Given the description of an element on the screen output the (x, y) to click on. 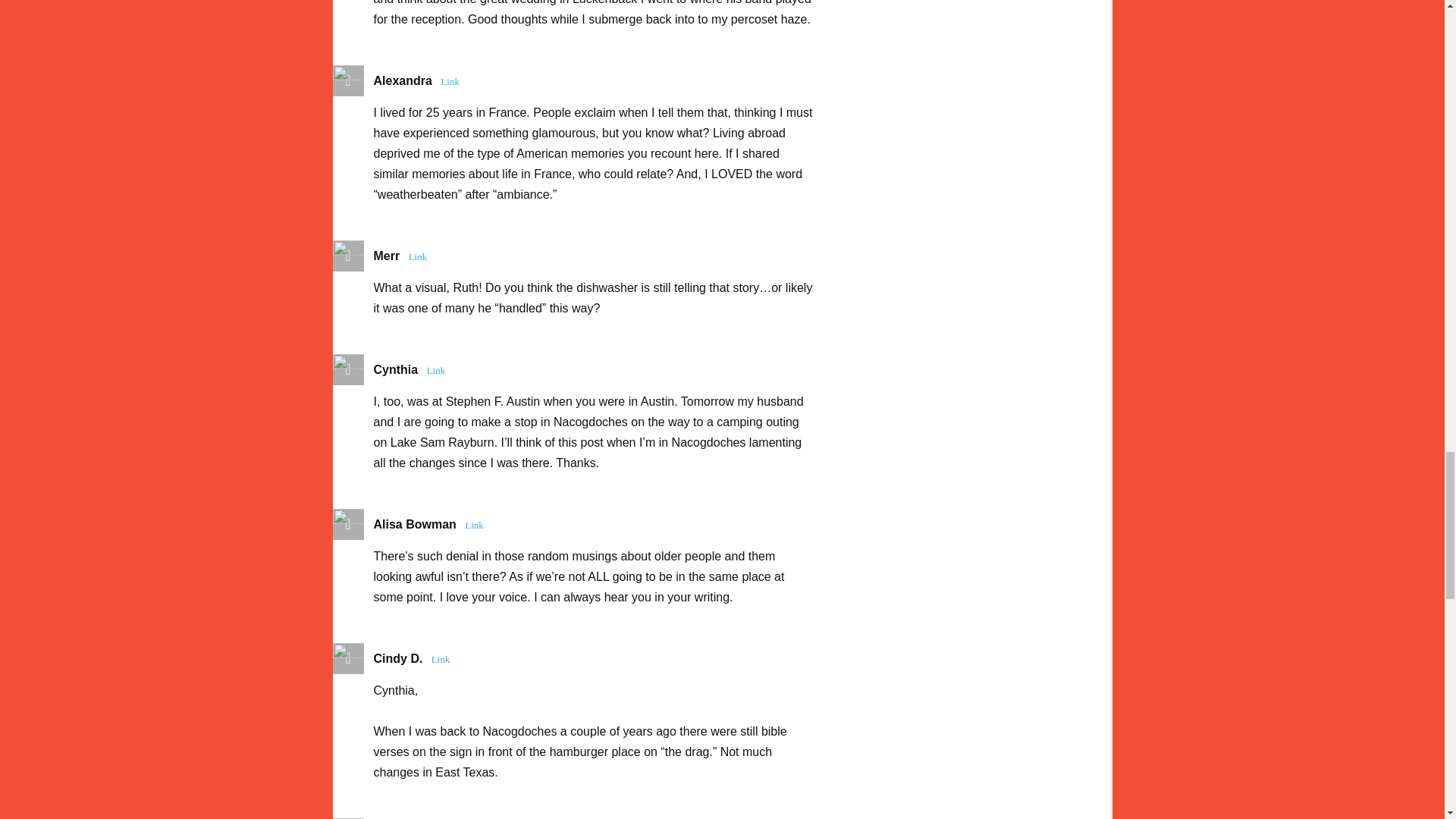
permalink to this comment (449, 81)
Cynthia (394, 369)
Alisa Bowman (413, 523)
Link (417, 256)
Link (474, 525)
Link (436, 370)
permalink to this comment (436, 370)
Alexandra (401, 80)
Link (440, 659)
Link (449, 81)
permalink to this comment (417, 256)
permalink to this comment (440, 659)
permalink to this comment (474, 525)
